Given the description of an element on the screen output the (x, y) to click on. 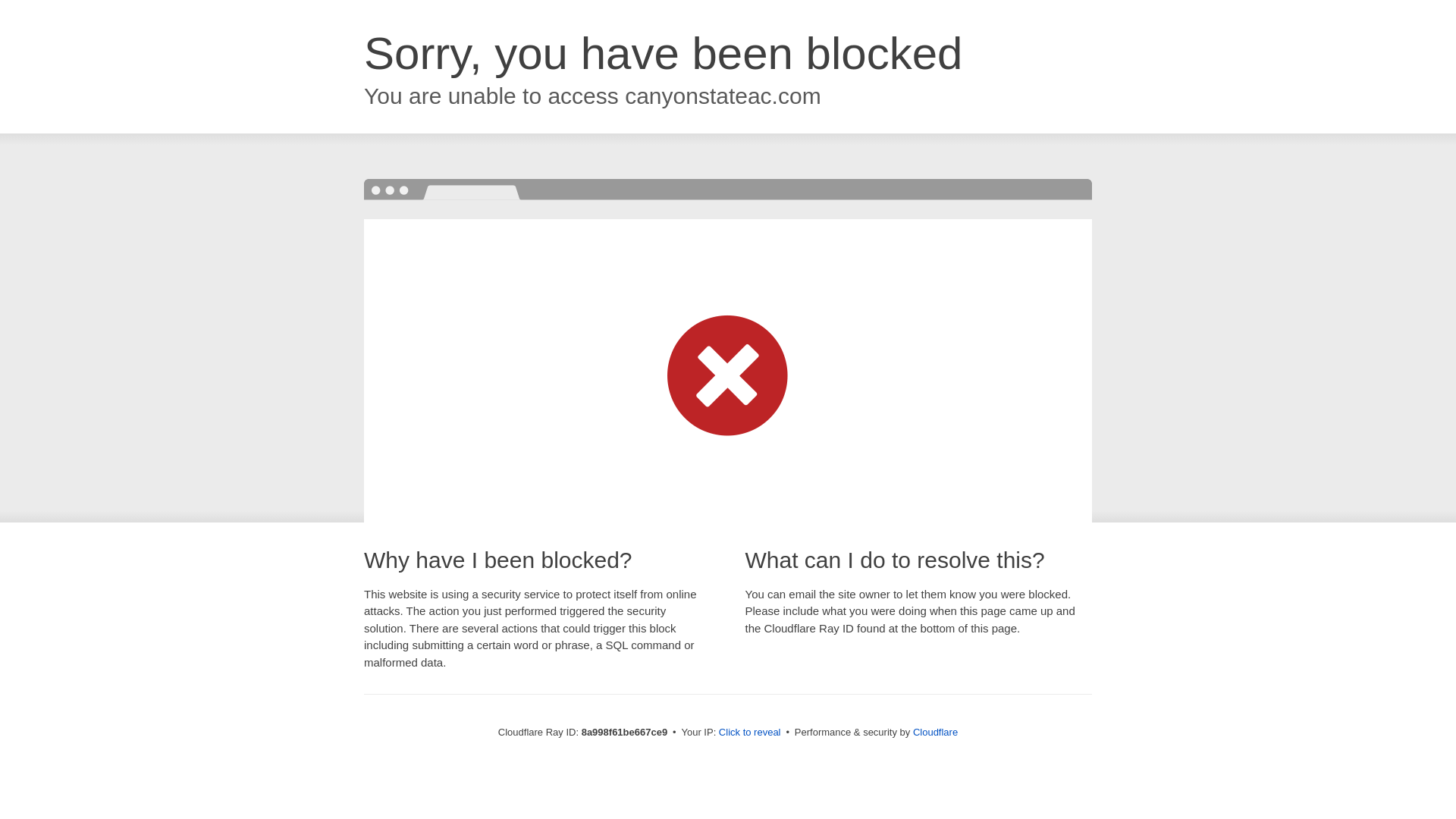
Cloudflare (935, 731)
Click to reveal (749, 732)
